Given the description of an element on the screen output the (x, y) to click on. 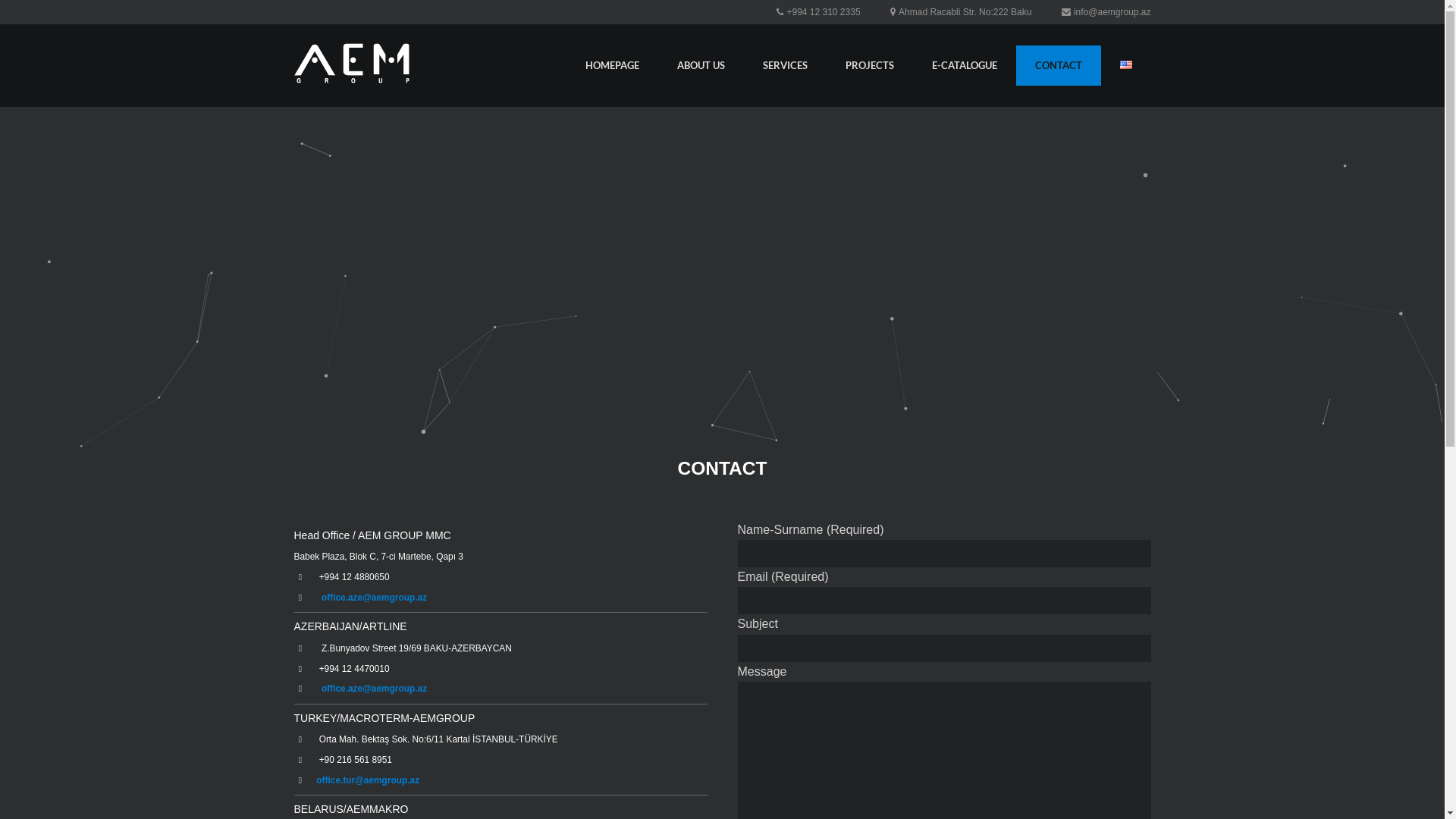
office.aze@aemgroup.az Element type: text (373, 597)
AEM Group Element type: hover (351, 65)
SERVICES Element type: text (784, 65)
HOMEPAGE Element type: text (611, 65)
E-CATALOGUE Element type: text (964, 65)
office.aze@aemgroup.az Element type: text (373, 688)
office.tur@aemgroup.az Element type: text (367, 780)
ABOUT US Element type: text (700, 65)
PROJECTS Element type: text (869, 65)
CONTACT Element type: text (1058, 65)
